Given the description of an element on the screen output the (x, y) to click on. 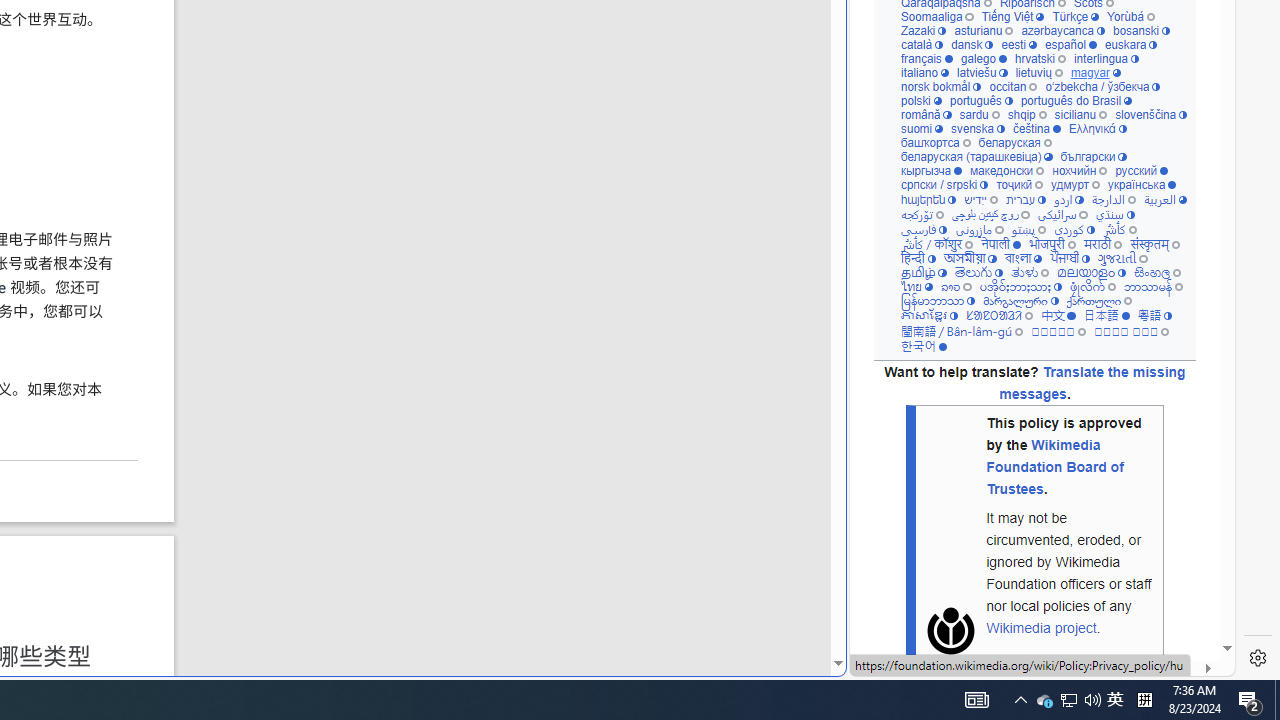
dansk (972, 45)
Soomaaliga (936, 17)
sicilianu (1080, 115)
